Given the description of an element on the screen output the (x, y) to click on. 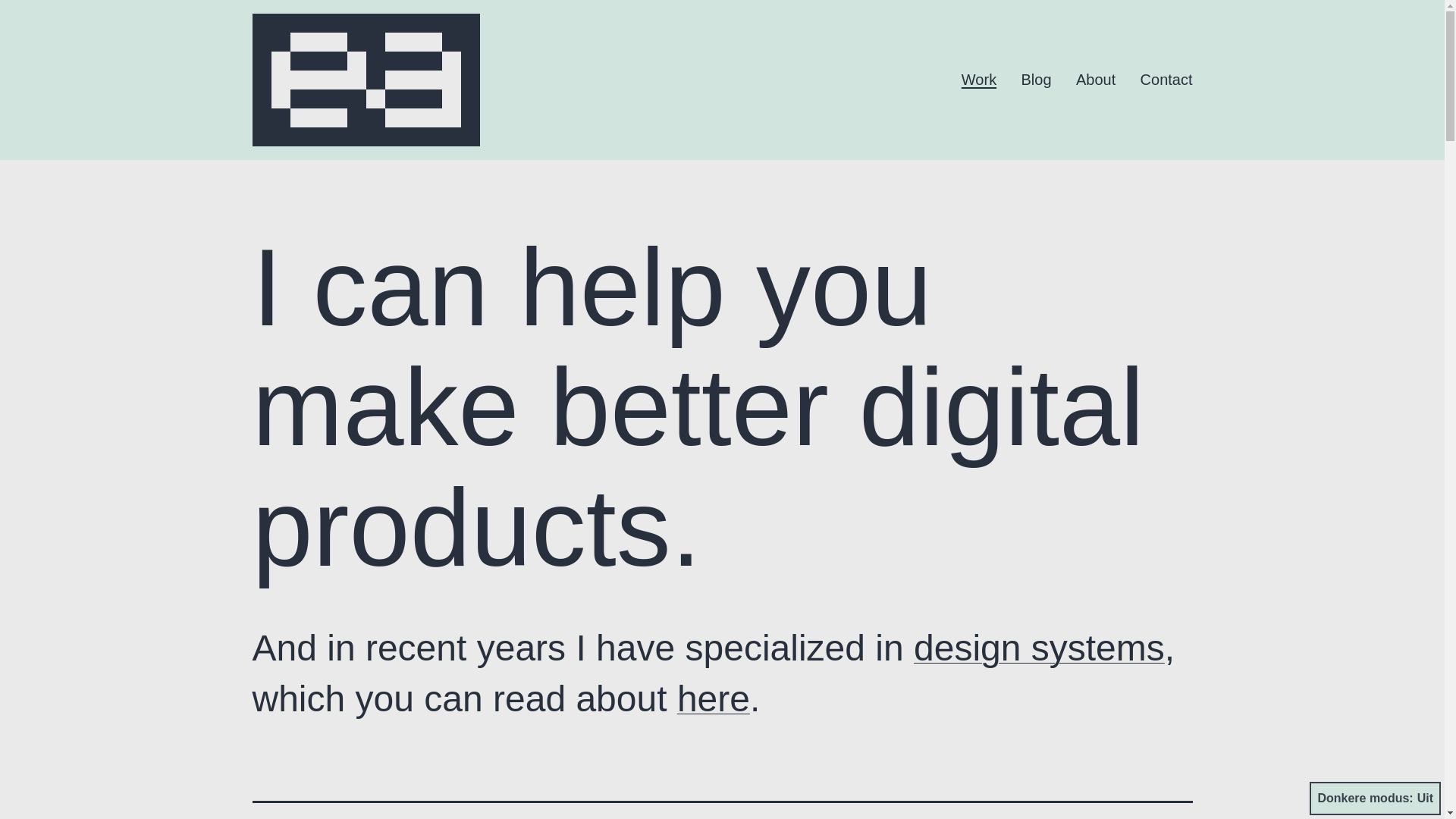
here (713, 698)
design systems (1039, 648)
Blog (1035, 79)
Work (979, 79)
Donkere modus: (1374, 798)
Contact (1165, 79)
About (1095, 79)
